Given the description of an element on the screen output the (x, y) to click on. 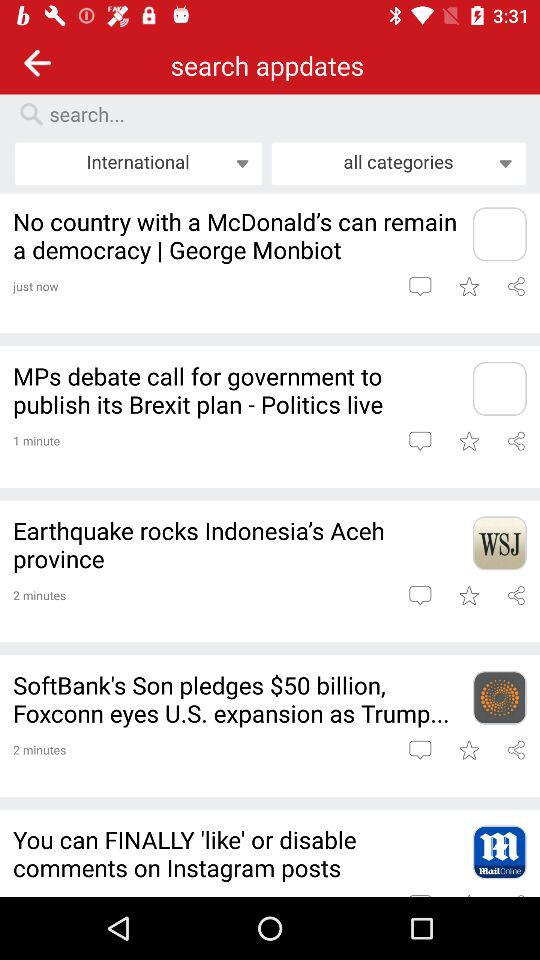
bookmark a web (468, 595)
